Given the description of an element on the screen output the (x, y) to click on. 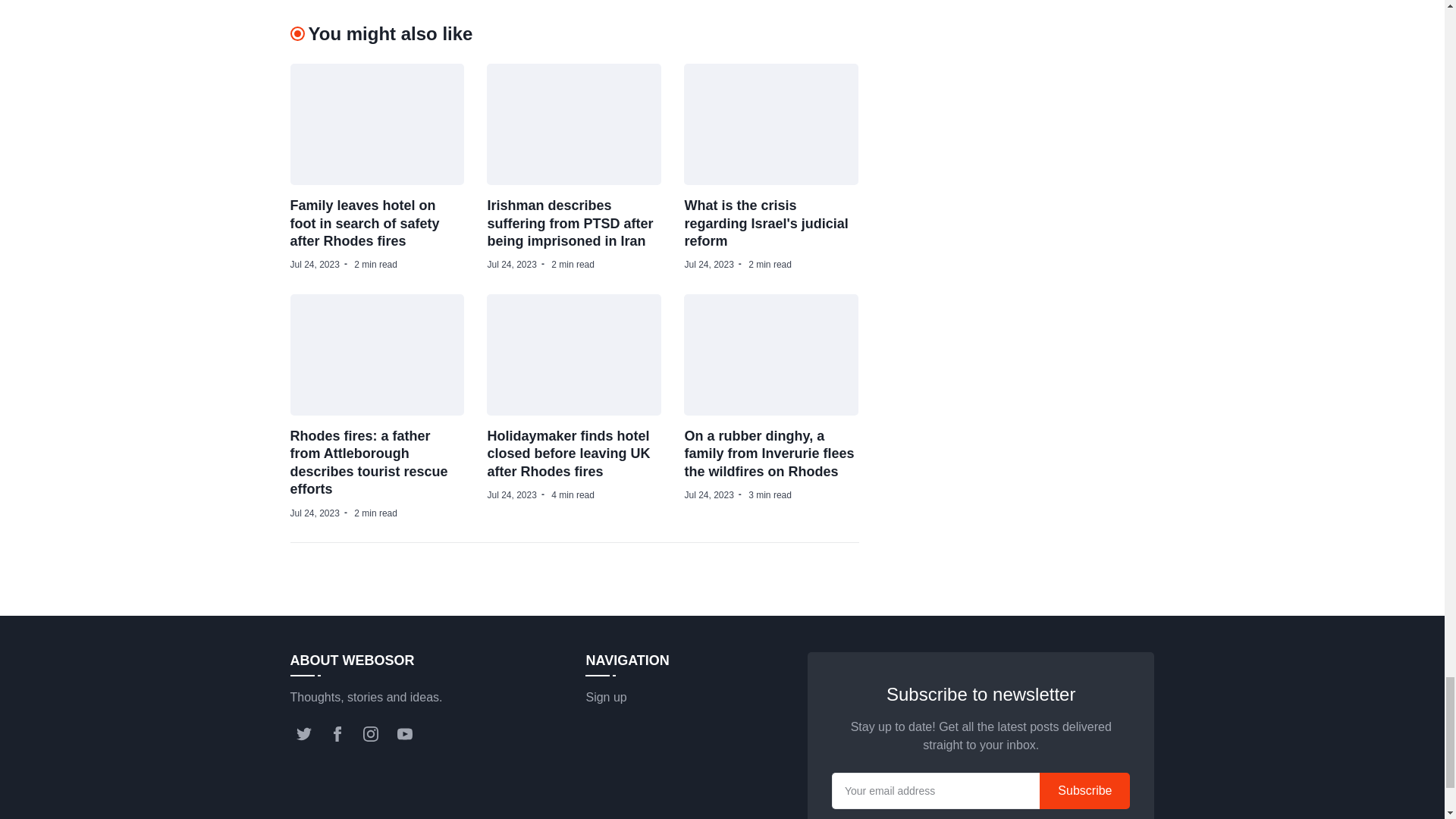
What is the crisis regarding Israel's judicial reform (765, 223)
